Given the description of an element on the screen output the (x, y) to click on. 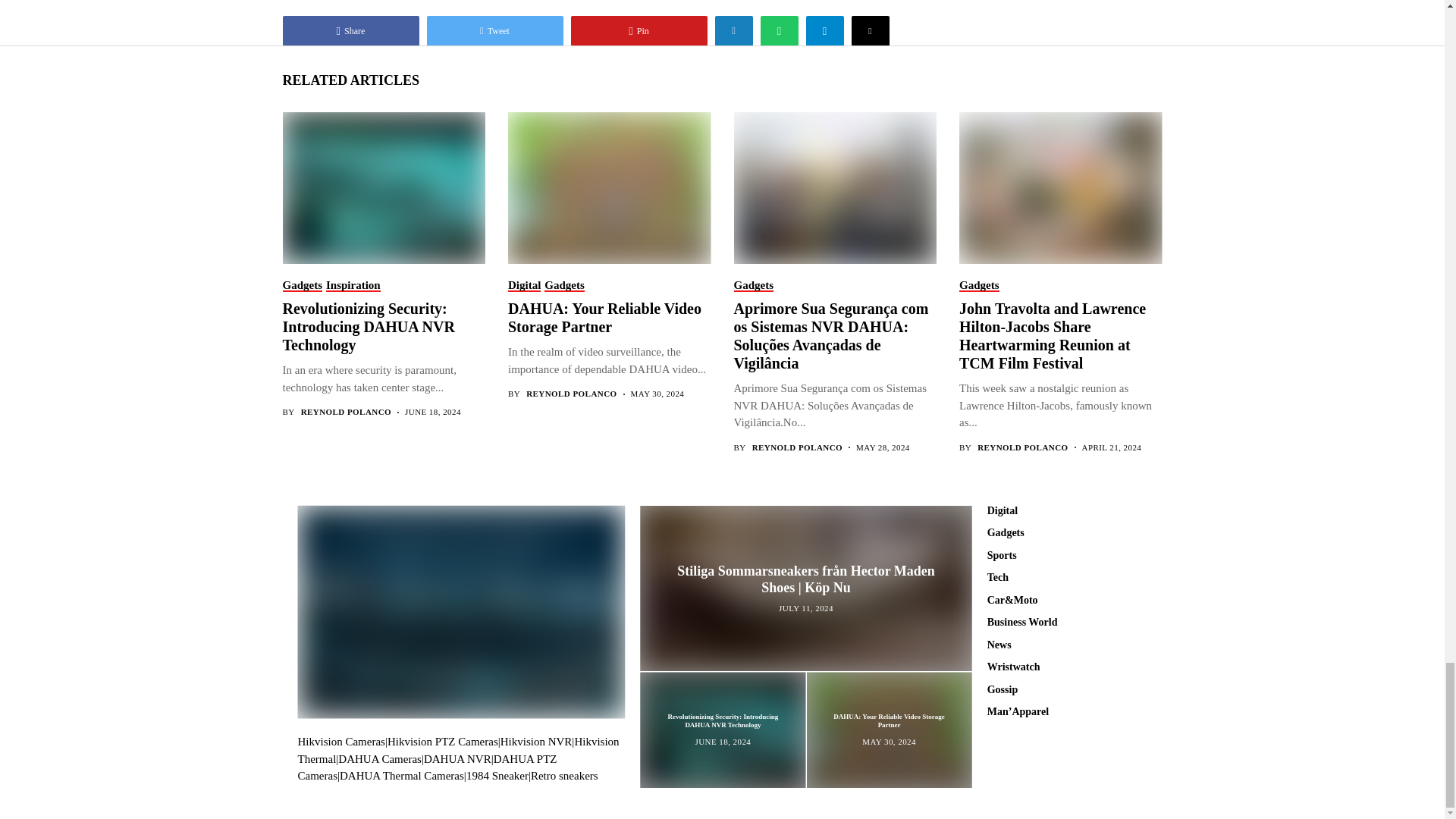
Posts by Reynold Polanco (346, 411)
Posts by Reynold Polanco (1021, 447)
HIKVISION PTZ Cameras (442, 741)
Posts by Reynold Polanco (797, 447)
DAHUA: Your Reliable Video Storage Partner (608, 187)
HIKVISION NVR (536, 741)
HIKVISION NVR (457, 749)
Posts by Reynold Polanco (570, 393)
Revolutionizing Security: Introducing DAHUA NVR Technology (382, 187)
HIKVISION Cameras (340, 741)
